Given the description of an element on the screen output the (x, y) to click on. 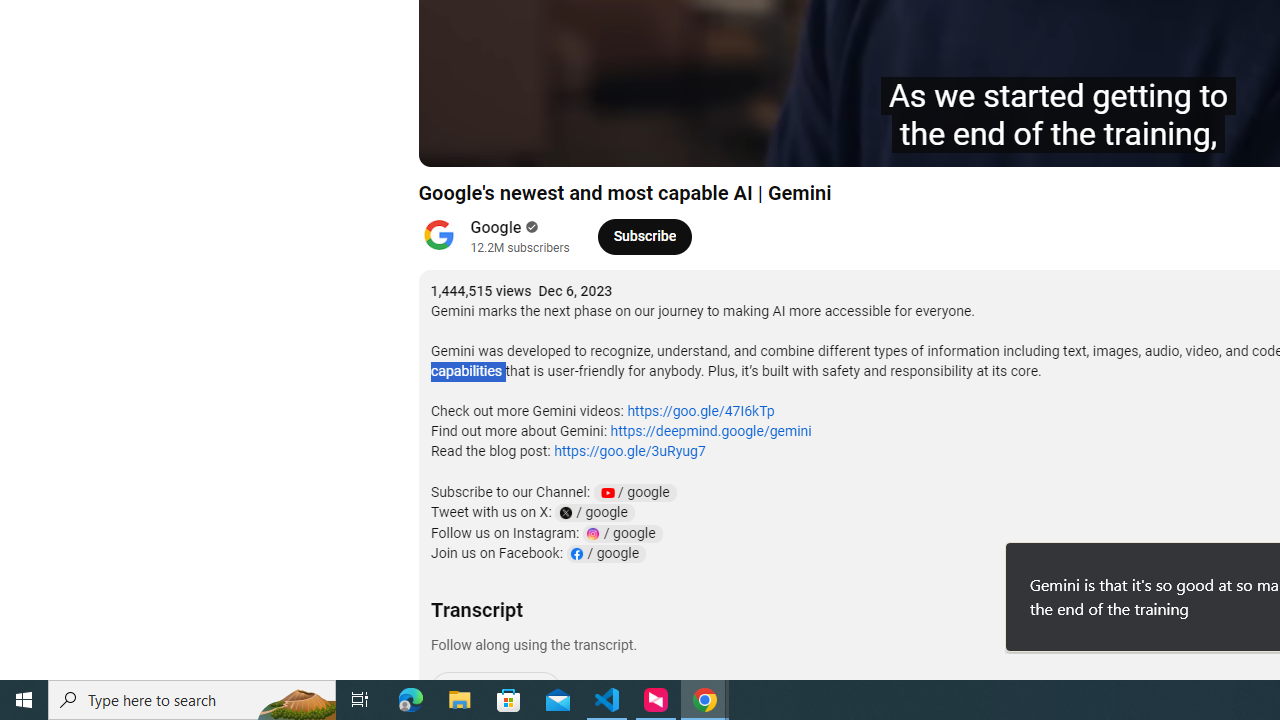
Facebook Channel Link: Google (605, 553)
